Given the description of an element on the screen output the (x, y) to click on. 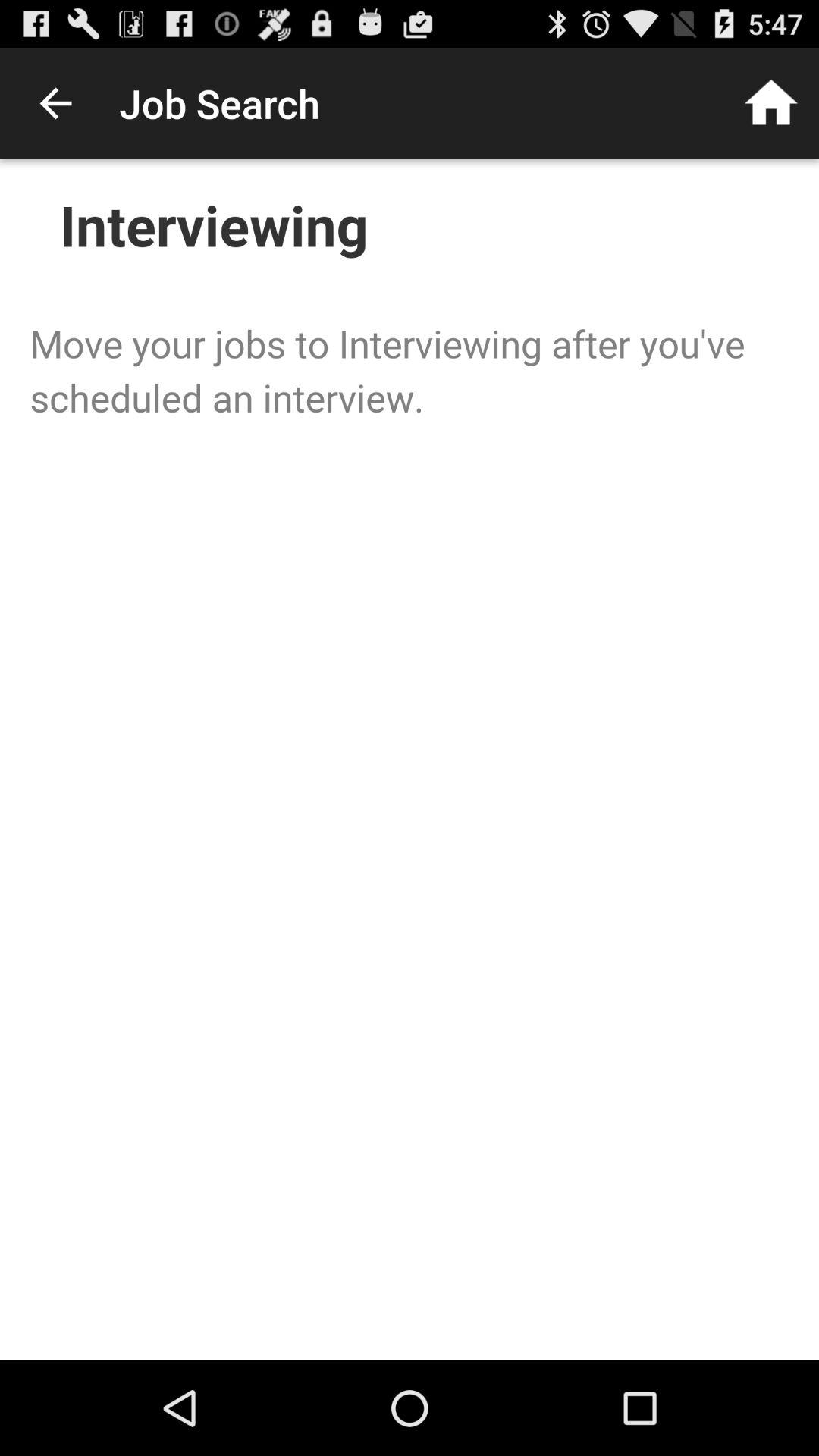
search page (409, 759)
